Given the description of an element on the screen output the (x, y) to click on. 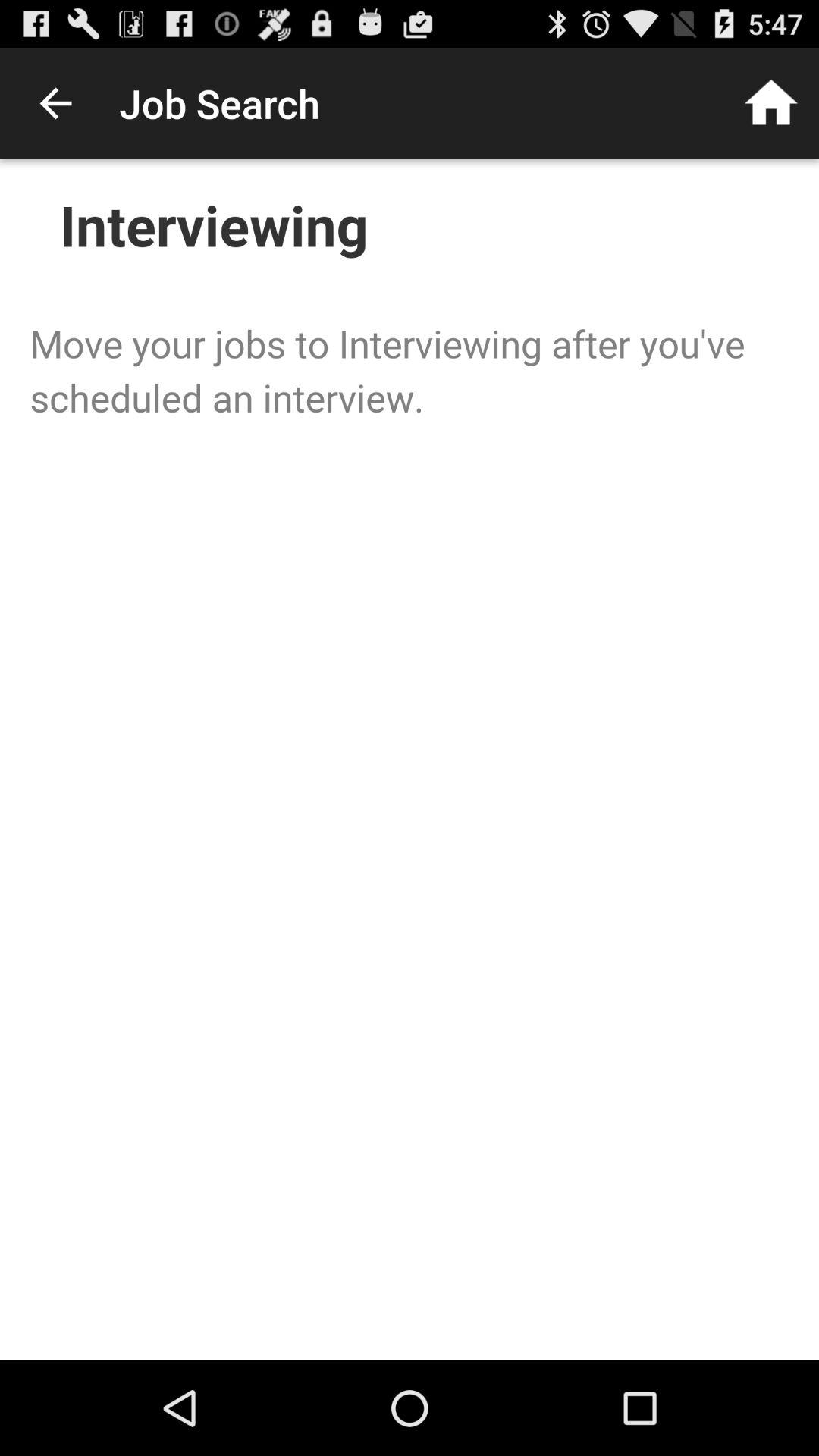
search page (409, 759)
